Given the description of an element on the screen output the (x, y) to click on. 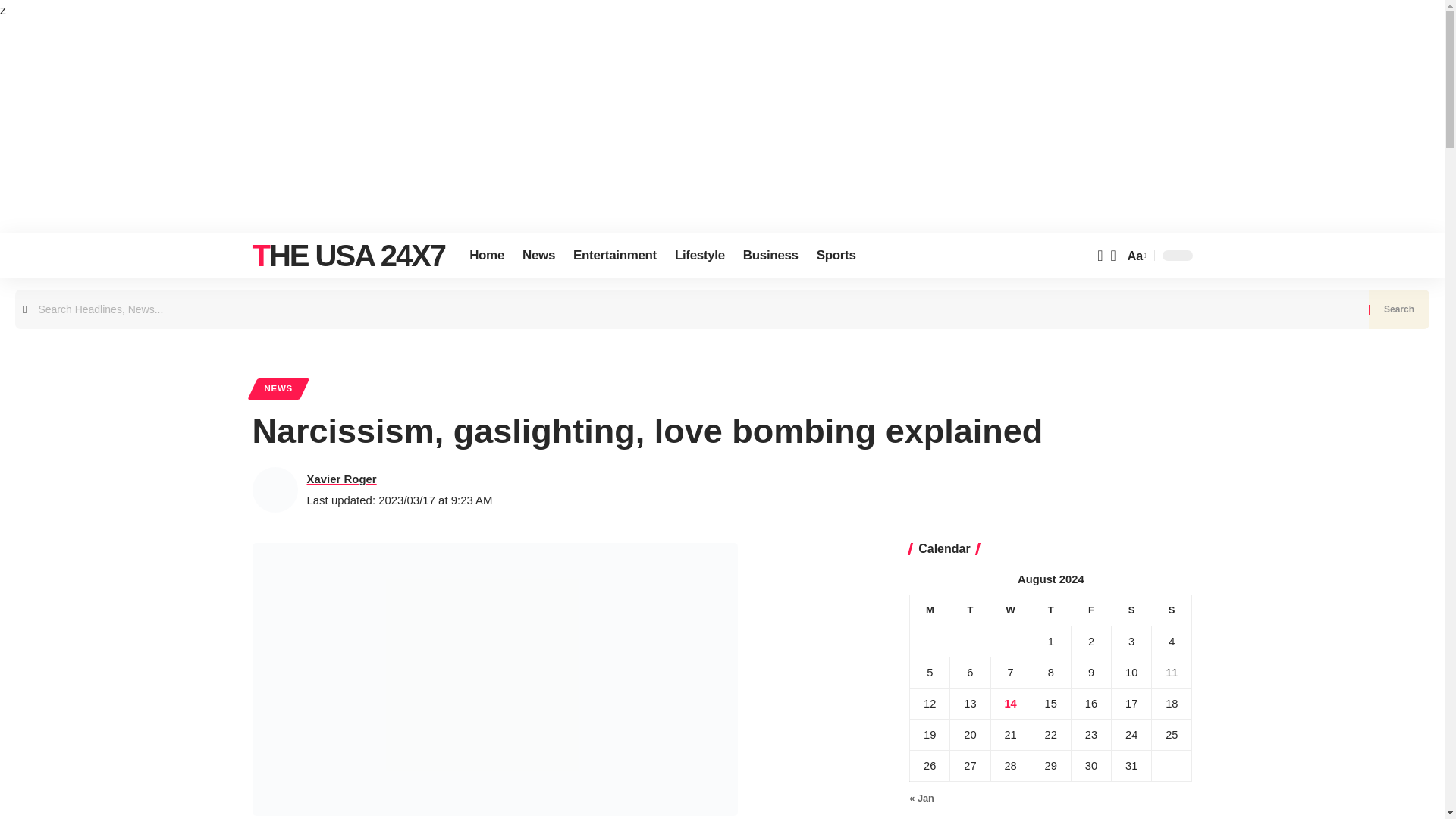
Lifestyle (699, 255)
THE USA 24X7 (348, 255)
NEWS (277, 388)
Aa (1135, 255)
Search (1398, 309)
News (538, 255)
Home (486, 255)
Business (770, 255)
Sports (836, 255)
